Given the description of an element on the screen output the (x, y) to click on. 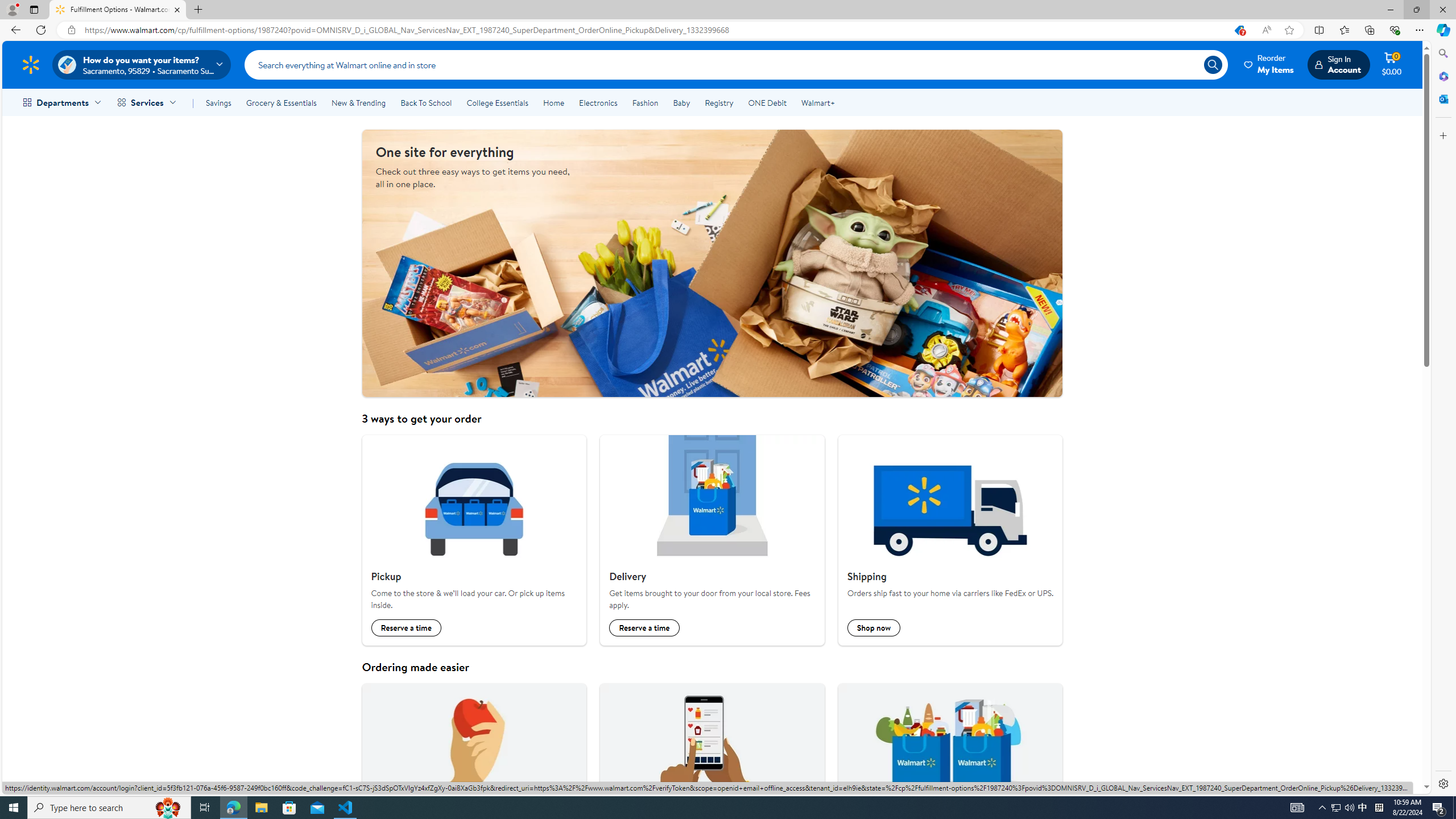
Back To School (425, 102)
This site has coupons! Shopping in Microsoft Edge, 7 (1239, 29)
Savings (217, 102)
Sign InAccount (1338, 64)
Walmart+ (817, 102)
Sign In Account (1338, 64)
